Given the description of an element on the screen output the (x, y) to click on. 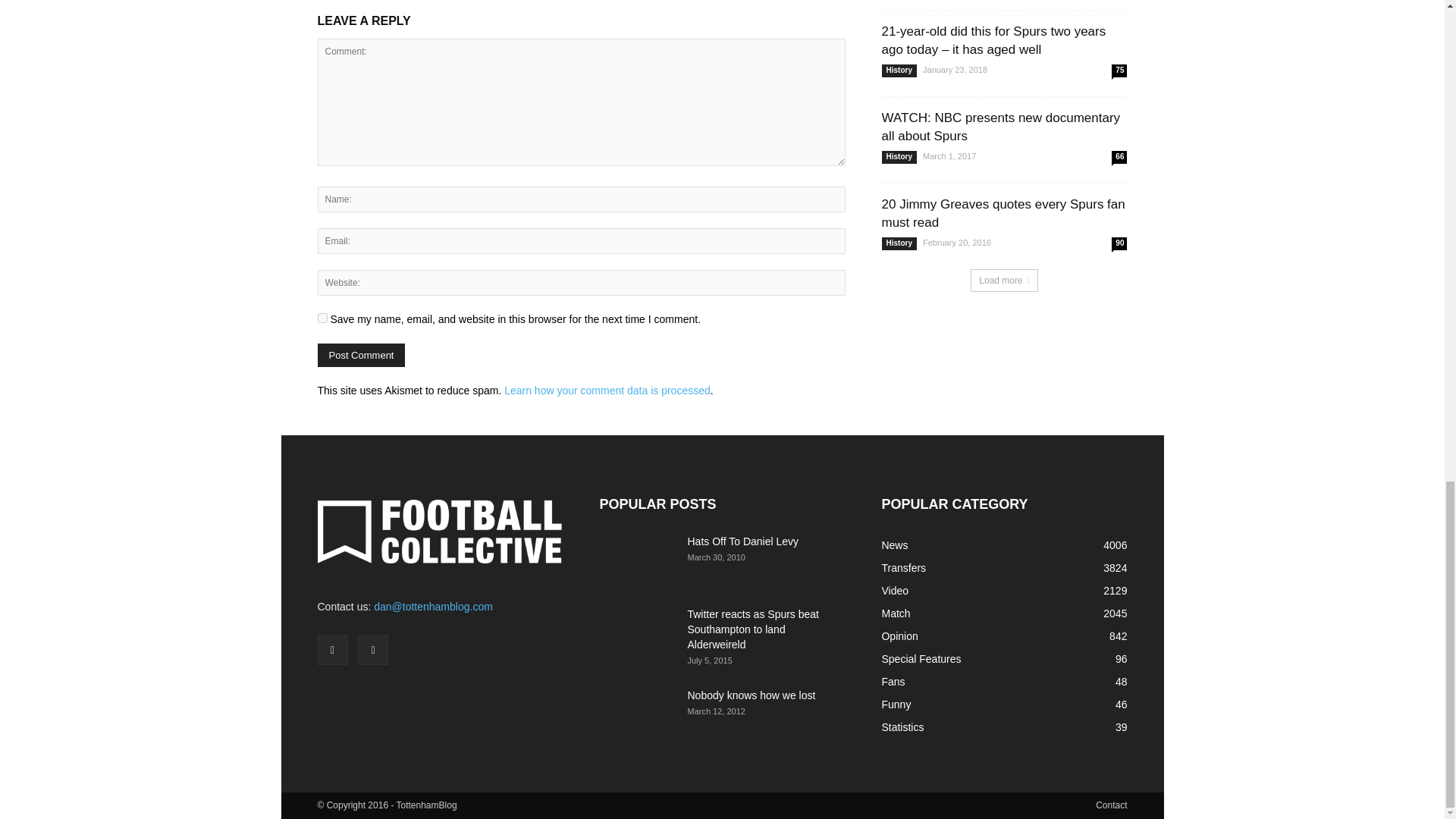
Post Comment (360, 354)
yes (321, 317)
WATCH: NBC presents new documentary all about Spurs (999, 126)
